Given the description of an element on the screen output the (x, y) to click on. 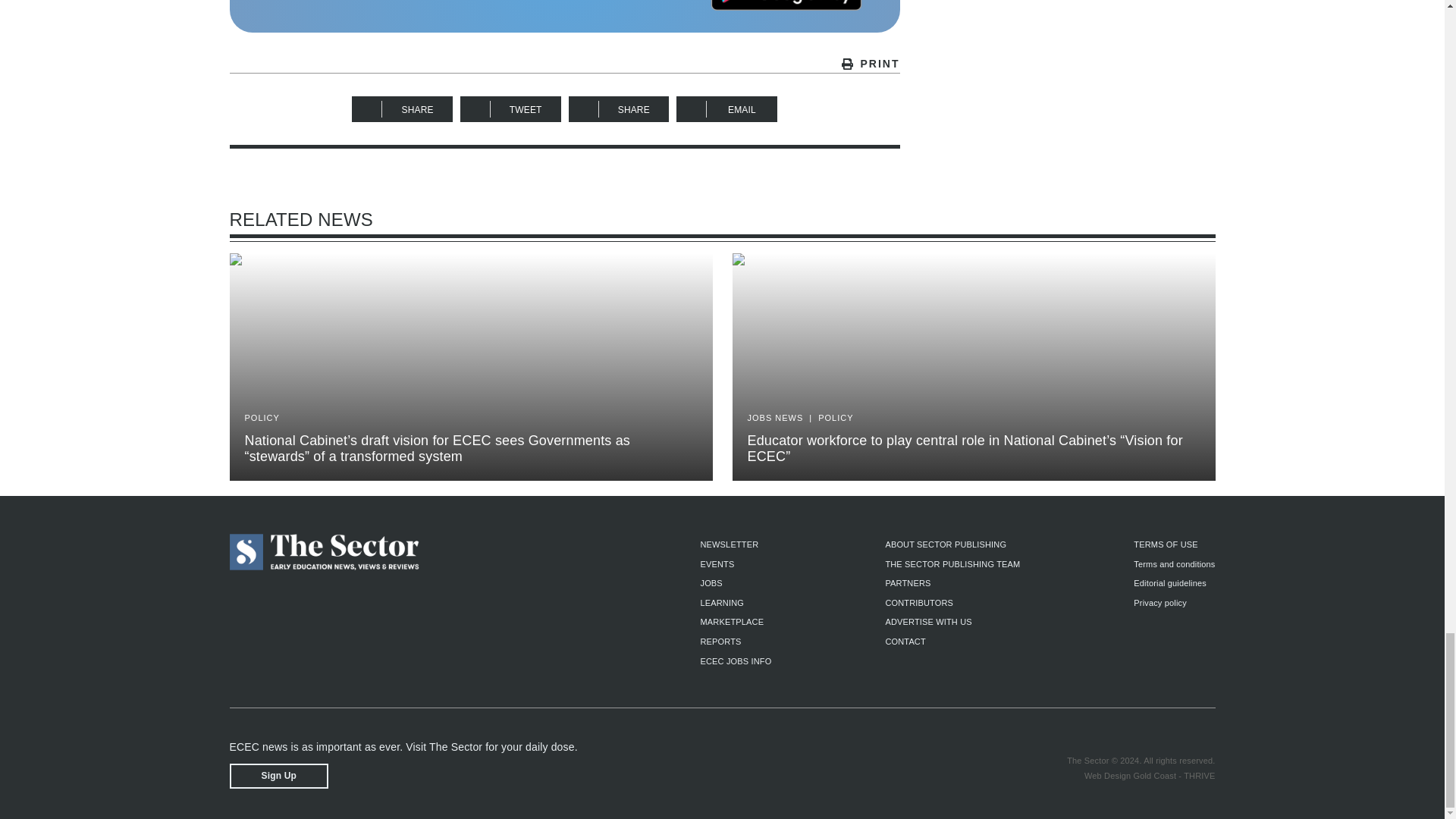
Share on Facebook (402, 109)
Share on LinkedIn (619, 109)
Tweet (510, 109)
Web Design Gold Coast (1130, 775)
Share on Email (727, 109)
